Given the description of an element on the screen output the (x, y) to click on. 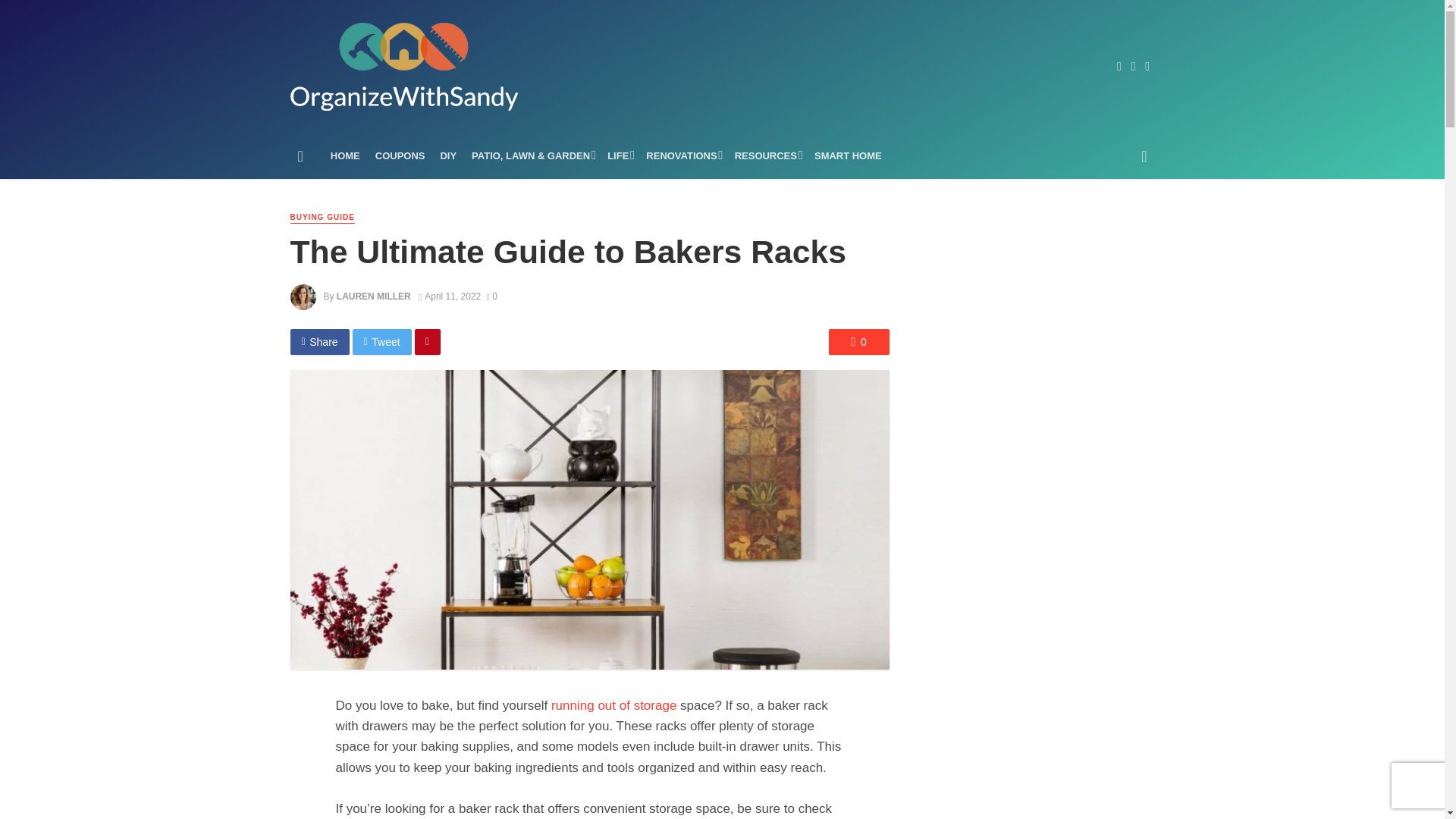
Share (319, 341)
LAUREN MILLER (373, 296)
RENOVATIONS (682, 156)
BUYING GUIDE (321, 217)
0 (858, 341)
0 (491, 296)
SMART HOME (847, 156)
COUPONS (400, 156)
RESOURCES (766, 156)
HOME (345, 156)
April 11, 2022 at 9:47 am (449, 296)
Tweet (382, 341)
Posts by Lauren Miller (373, 296)
0 Comments (491, 296)
running out of storage (614, 705)
